Given the description of an element on the screen output the (x, y) to click on. 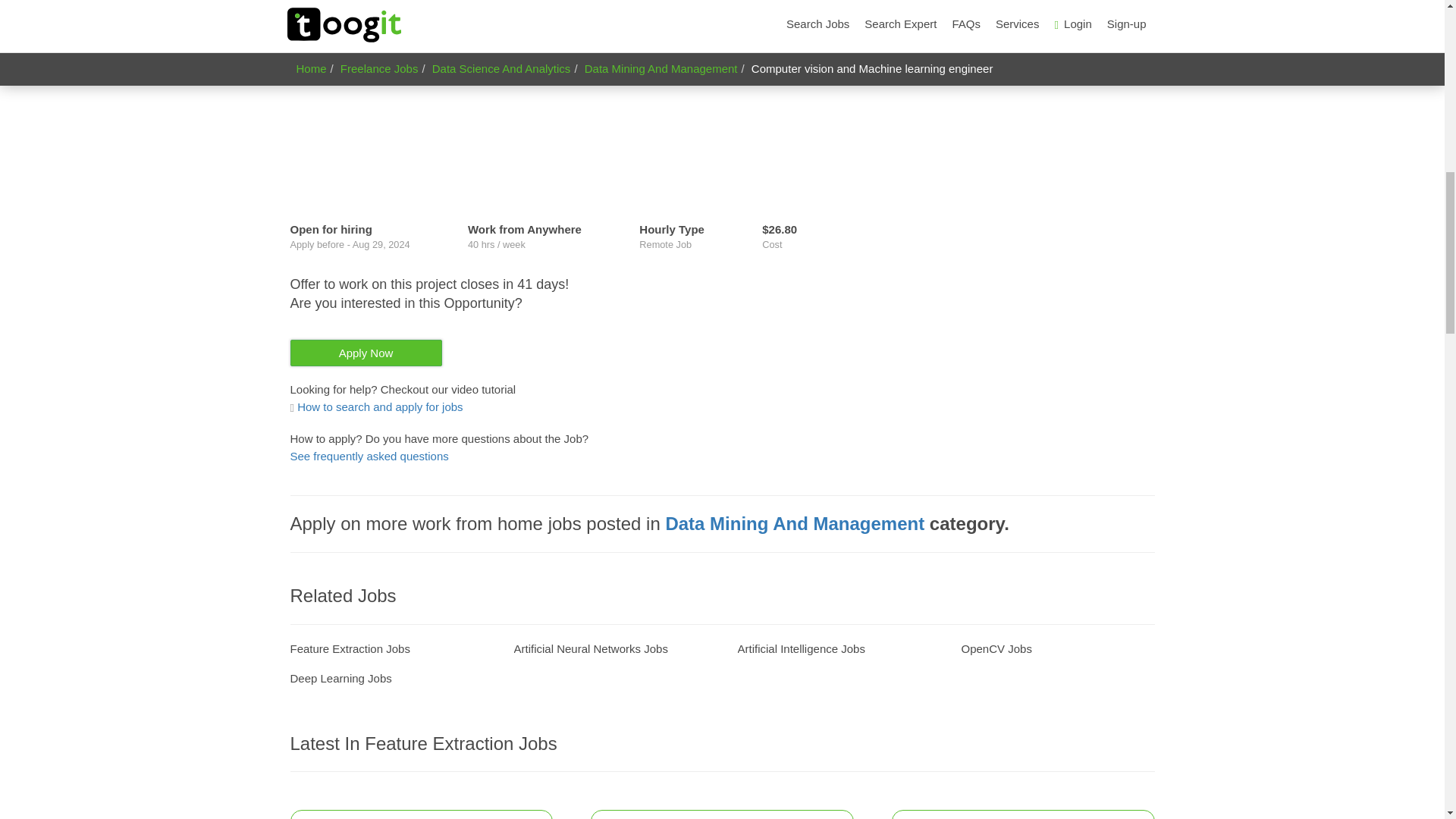
Artificial Neural Networks Jobs (590, 648)
Artificial Intelligence Jobs (800, 648)
Apply Now (365, 352)
Search Feature Extraction Jobs (349, 648)
Frequently asked questions (368, 455)
See frequently asked questions (368, 455)
Search Artificial Neural Networks Jobs (590, 648)
How to search and apply for jobs (376, 406)
Find More Data Mining And Management Remote Jobs (794, 523)
Data Mining And Management (794, 523)
Deep Learning Jobs (340, 677)
Feature Extraction Jobs (349, 648)
Search Deep Learning Jobs (340, 677)
Search OpenCV Jobs (996, 648)
